Given the description of an element on the screen output the (x, y) to click on. 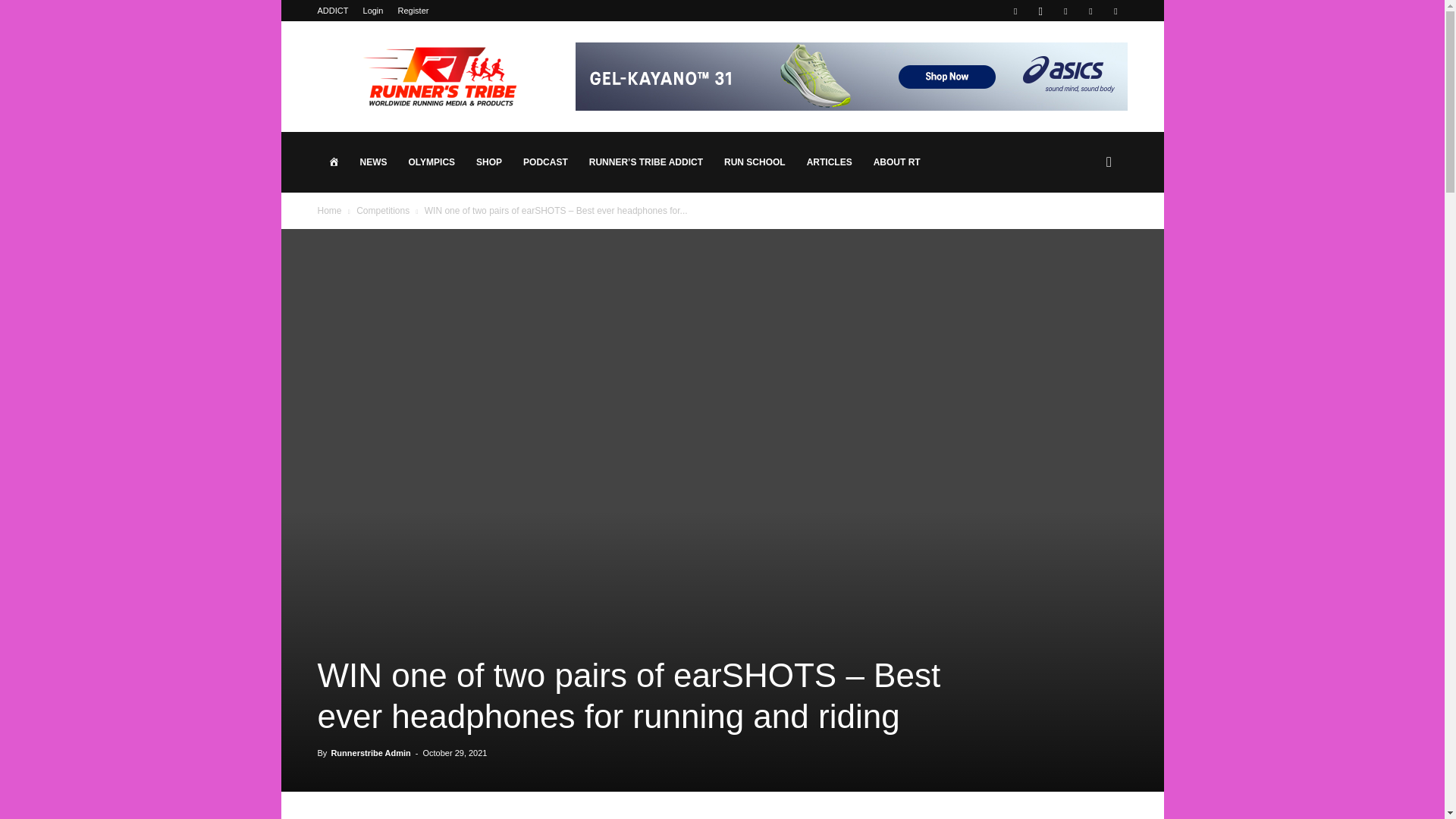
Instagram (1040, 10)
Twitter (1090, 10)
Pinterest (1065, 10)
Facebook (1015, 10)
Youtube (1114, 10)
